Given the description of an element on the screen output the (x, y) to click on. 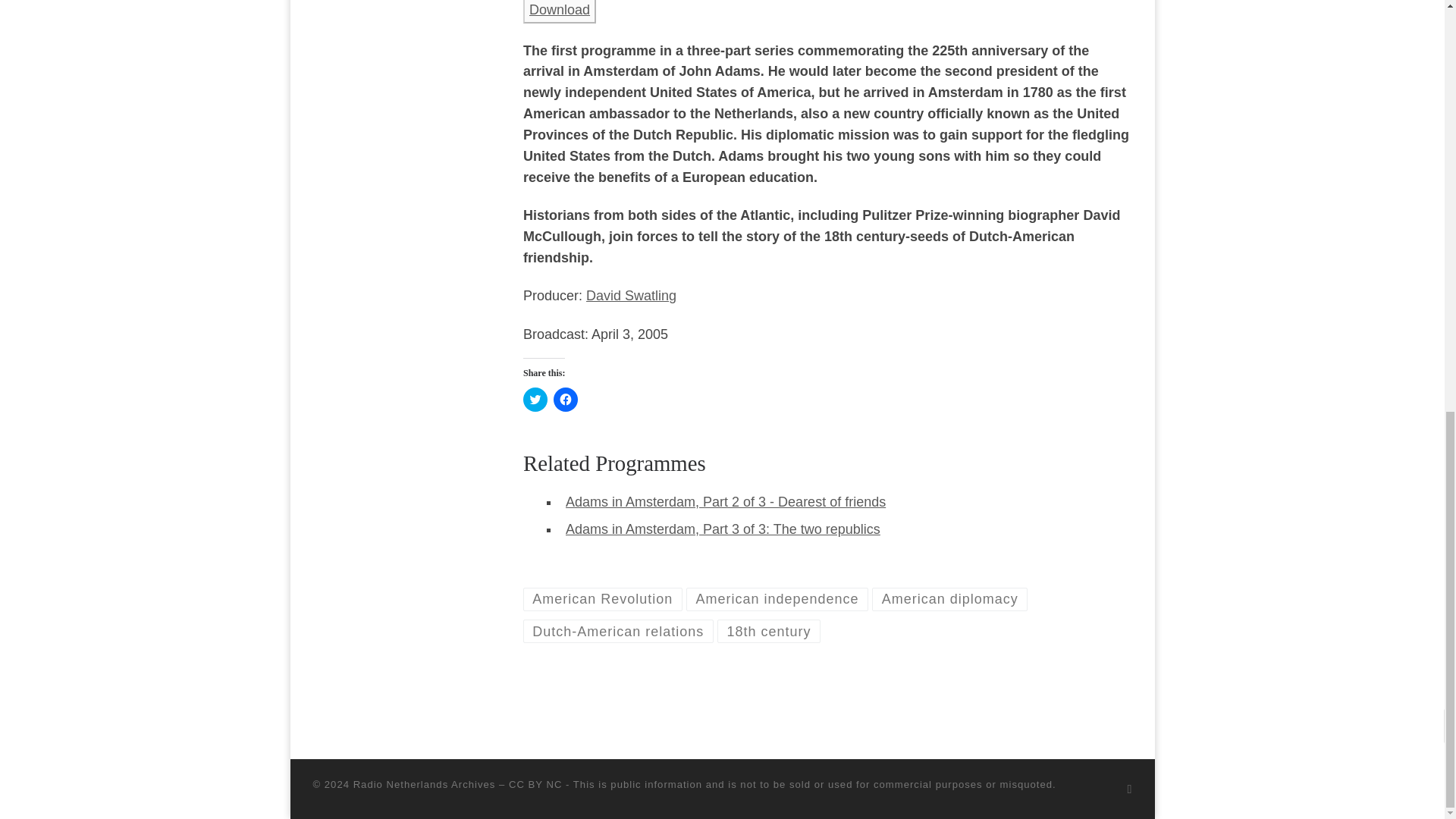
American independence (776, 599)
Download (559, 9)
View all posts in American diplomacy (949, 599)
American Revolution (602, 599)
Adams in Amsterdam, Part 2 of 3 - Dearest of friends (725, 501)
View all posts in American independence (776, 599)
18th century (769, 630)
View all posts in Dutch-American relations (617, 630)
American diplomacy (949, 599)
Adams in Amsterdam, Part 3 of 3: The two republics (723, 529)
David Swatling (631, 295)
View all posts in 18th century (769, 630)
Download (558, 11)
Click to share on Twitter (534, 399)
Click to share on Facebook (565, 399)
